Given the description of an element on the screen output the (x, y) to click on. 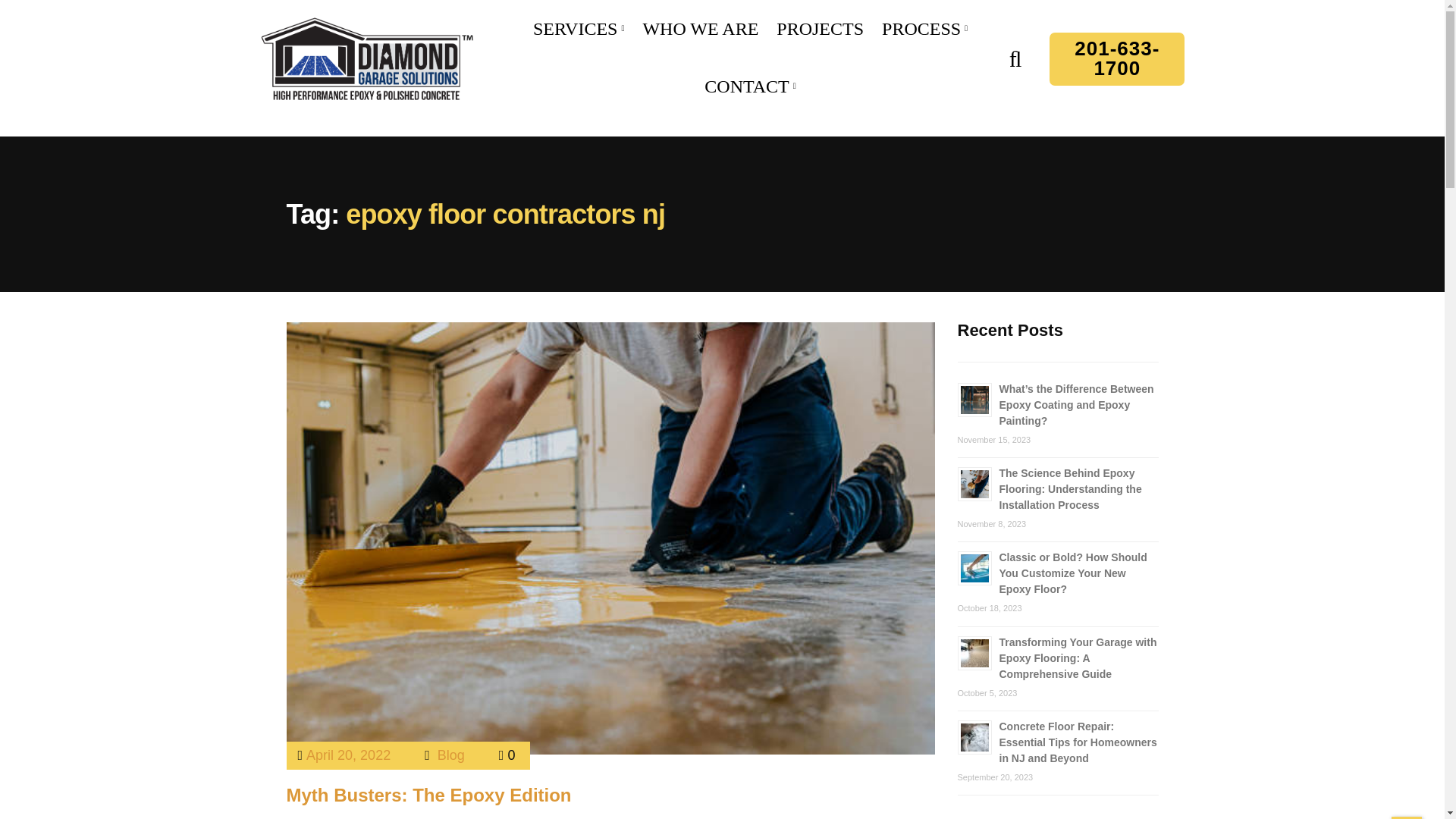
PROCESS (921, 30)
PROJECTS (819, 30)
Blog (451, 754)
April 20, 2022 (347, 754)
WHO WE ARE (700, 30)
Myth Busters: The Epoxy Edition (429, 794)
